Given the description of an element on the screen output the (x, y) to click on. 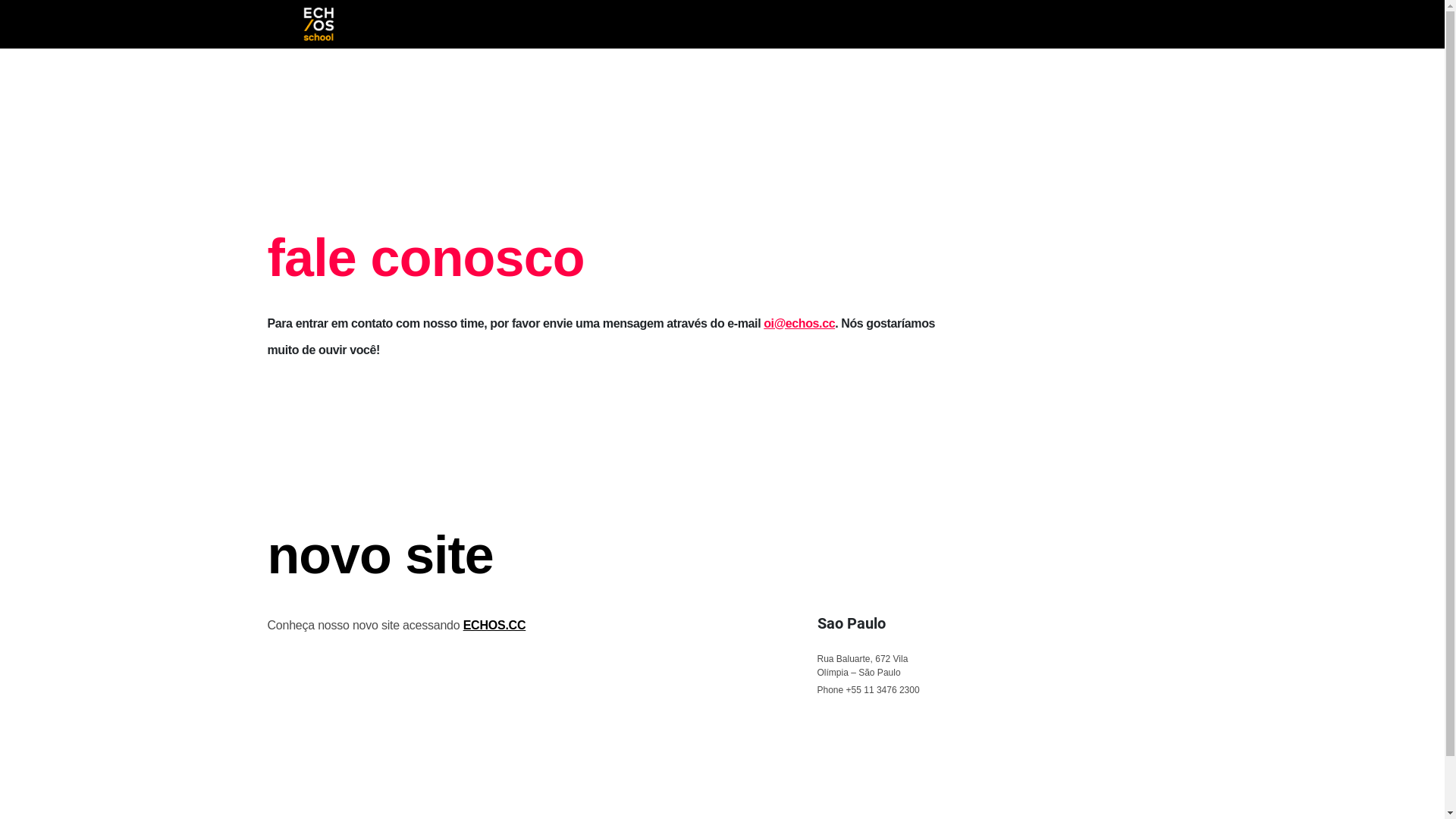
ECHOS.CC Element type: text (494, 624)
oi@echos.cc Element type: text (798, 322)
